Given the description of an element on the screen output the (x, y) to click on. 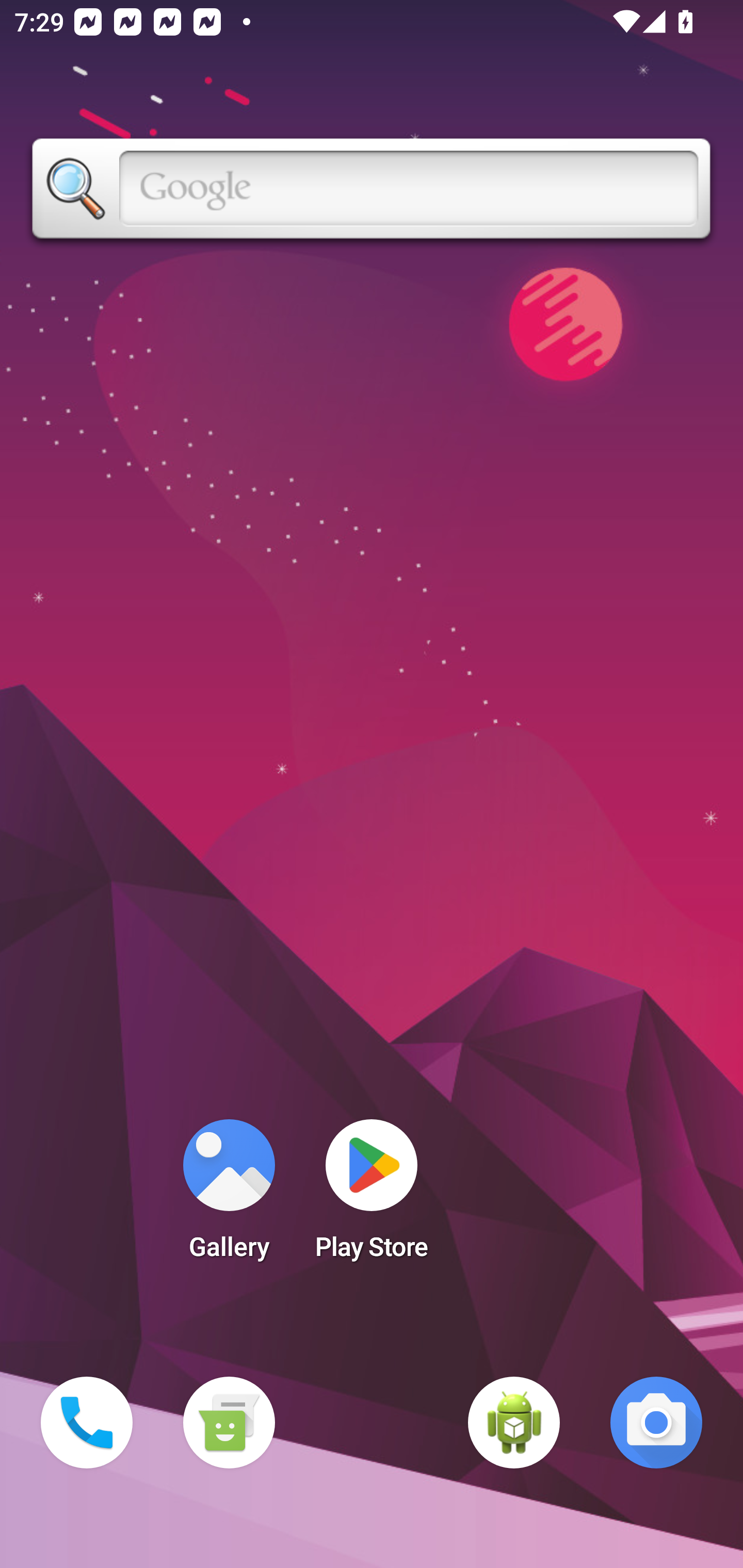
Gallery (228, 1195)
Play Store (371, 1195)
Phone (86, 1422)
Messaging (228, 1422)
WebView Browser Tester (513, 1422)
Camera (656, 1422)
